Given the description of an element on the screen output the (x, y) to click on. 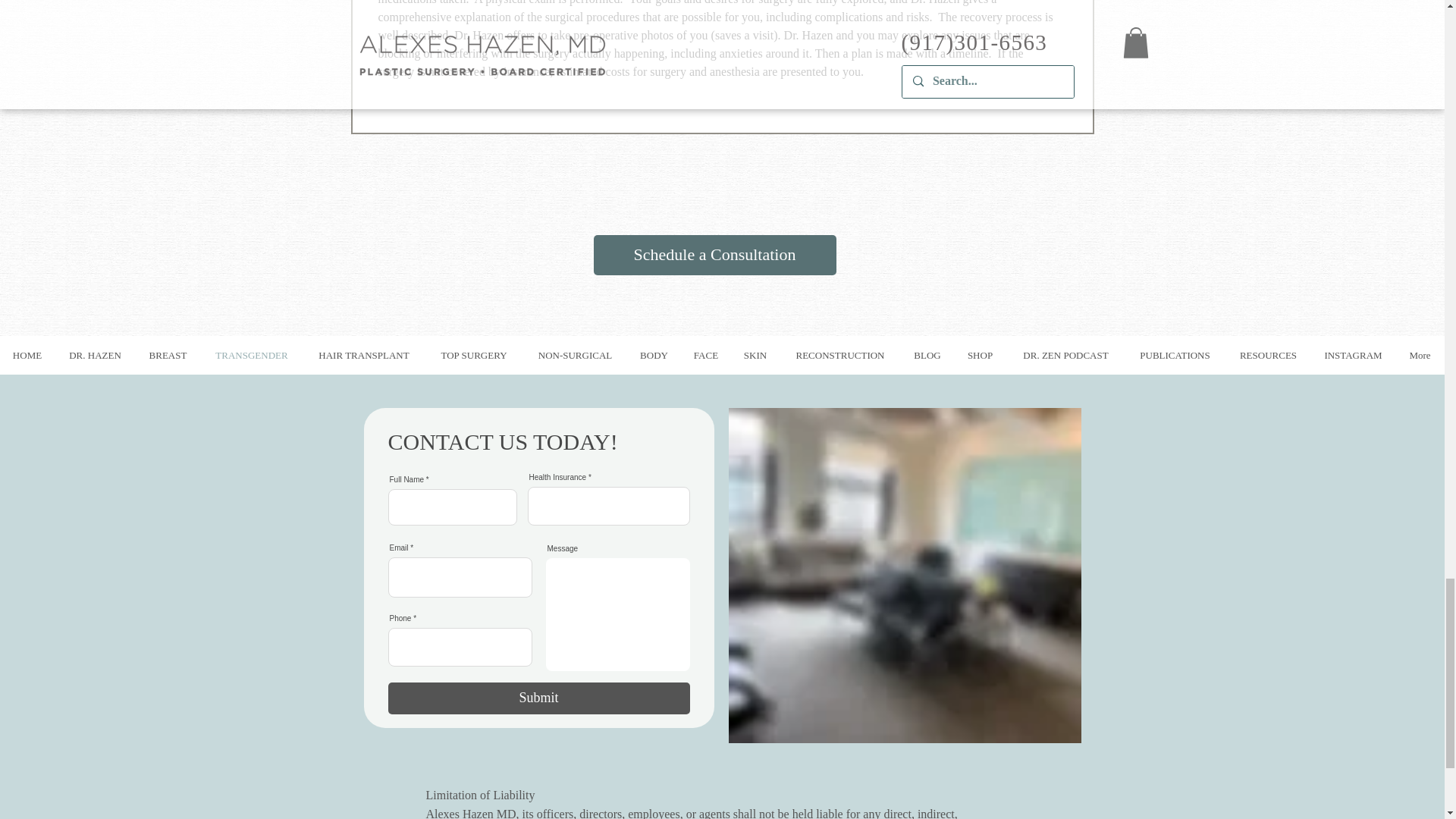
TRANSGENDER (251, 354)
Schedule a Consultation (713, 255)
BREAST (167, 354)
Alexes Hazen Md Office waiting room with view of NYC (904, 574)
HAIR TRANSPLANT (363, 354)
DR. HAZEN (95, 354)
HOME (27, 354)
TOP SURGERY (473, 354)
